Given the description of an element on the screen output the (x, y) to click on. 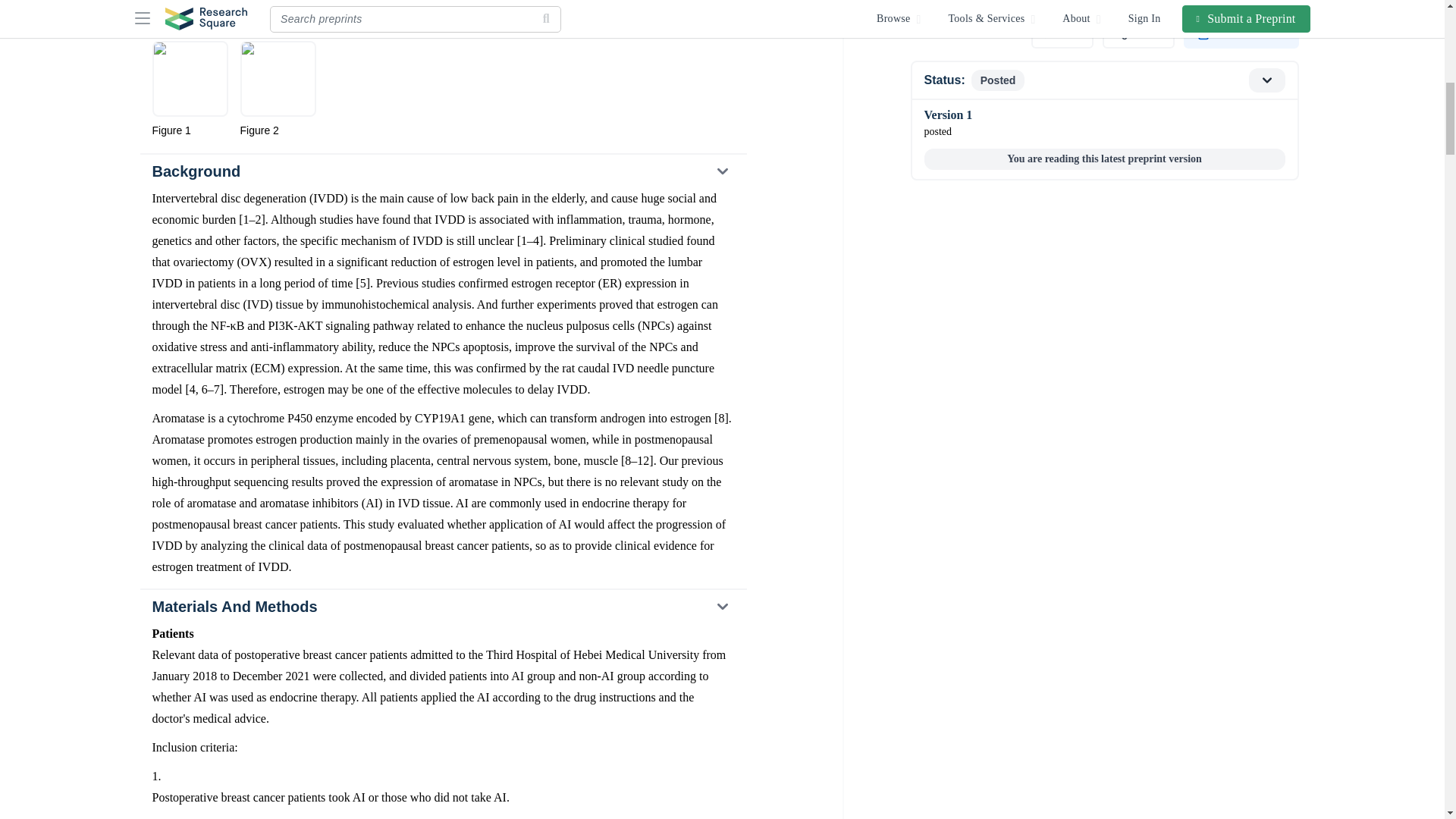
Background (442, 171)
Materials And Methods (442, 606)
Figures (442, 18)
